Given the description of an element on the screen output the (x, y) to click on. 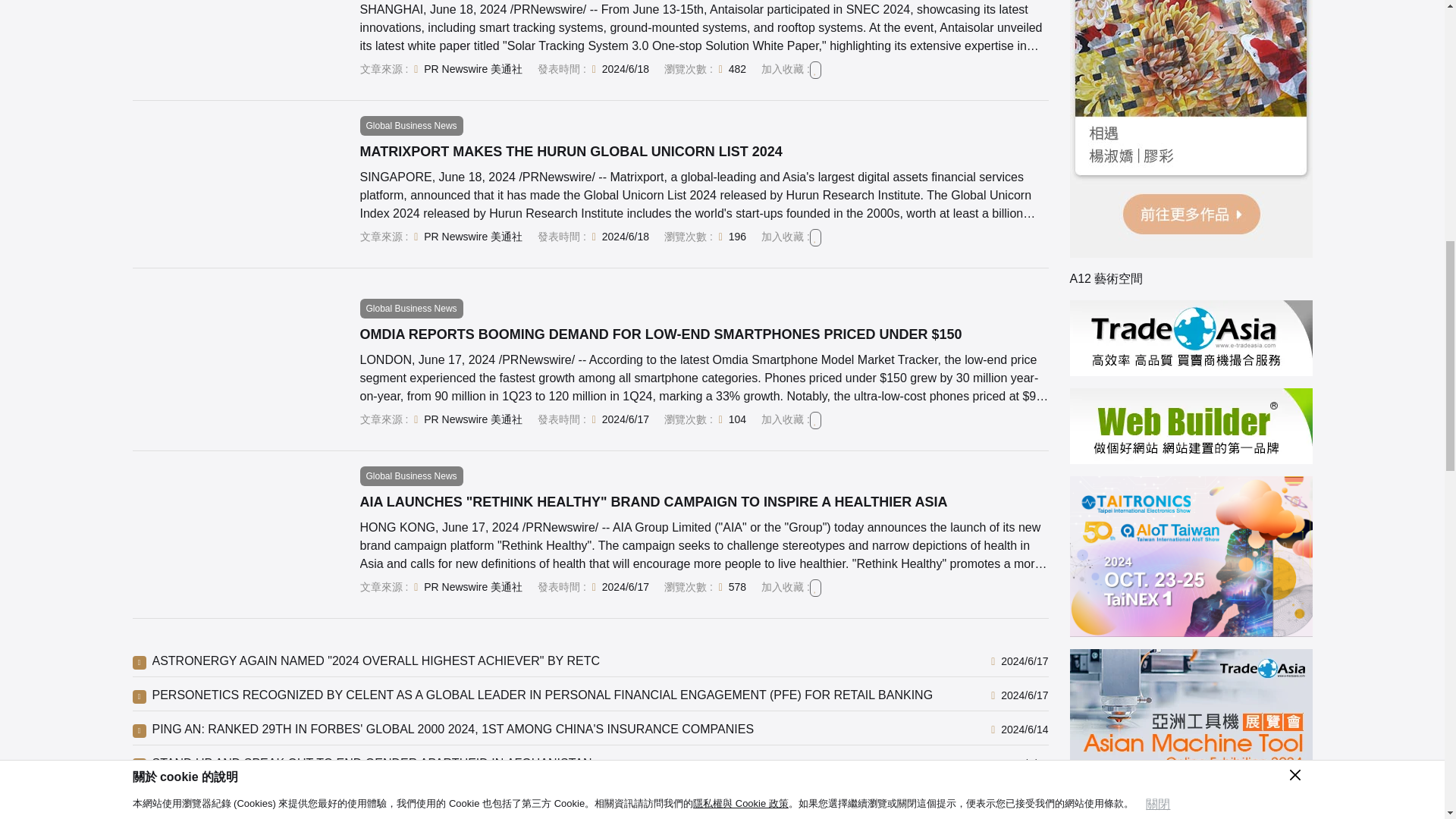
TradeAsia (1189, 337)
Web Builder (1189, 426)
